Given the description of an element on the screen output the (x, y) to click on. 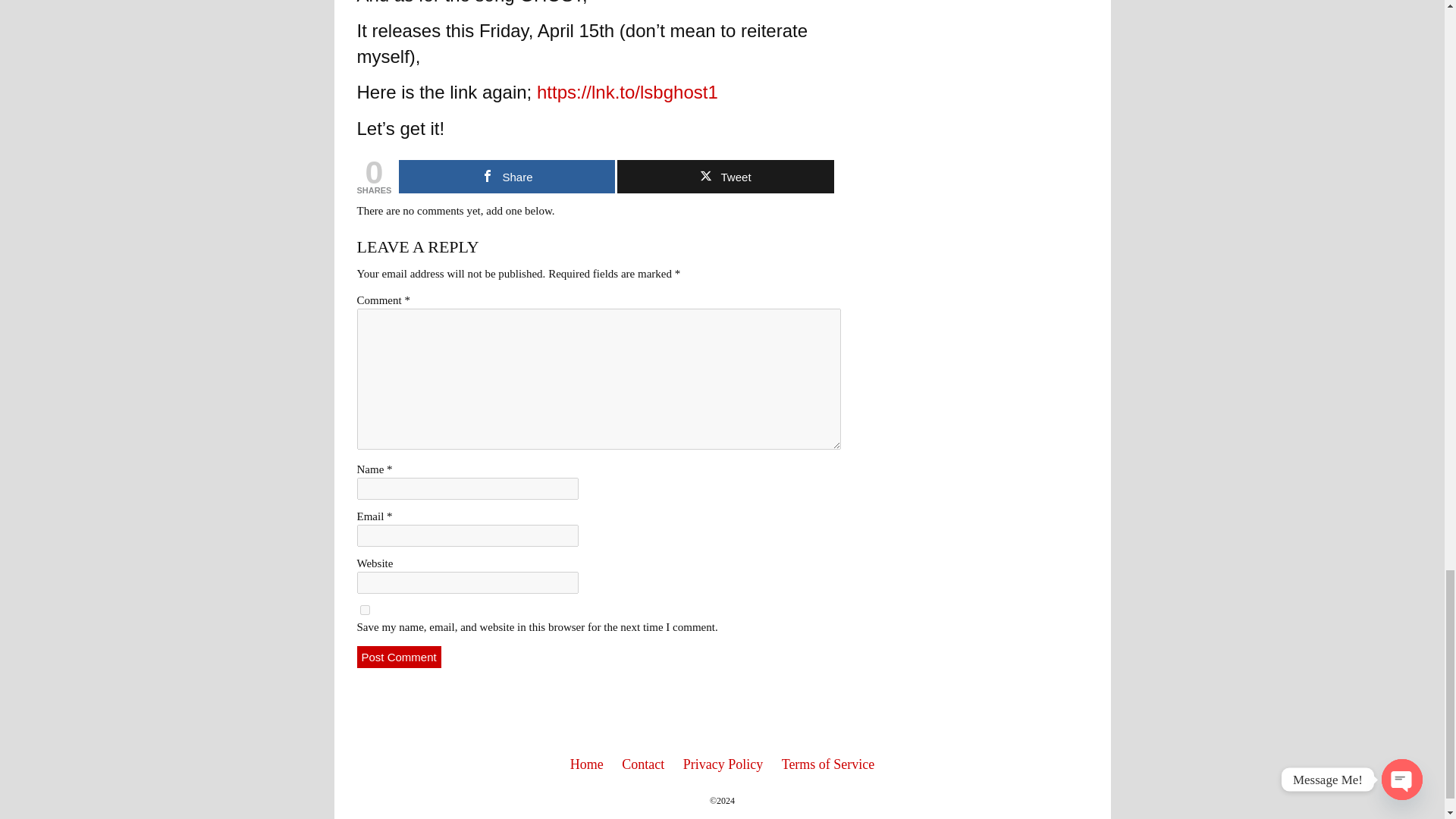
Post Comment (398, 657)
Share (506, 176)
yes (364, 610)
Post Comment (398, 657)
Tweet (724, 176)
